Given the description of an element on the screen output the (x, y) to click on. 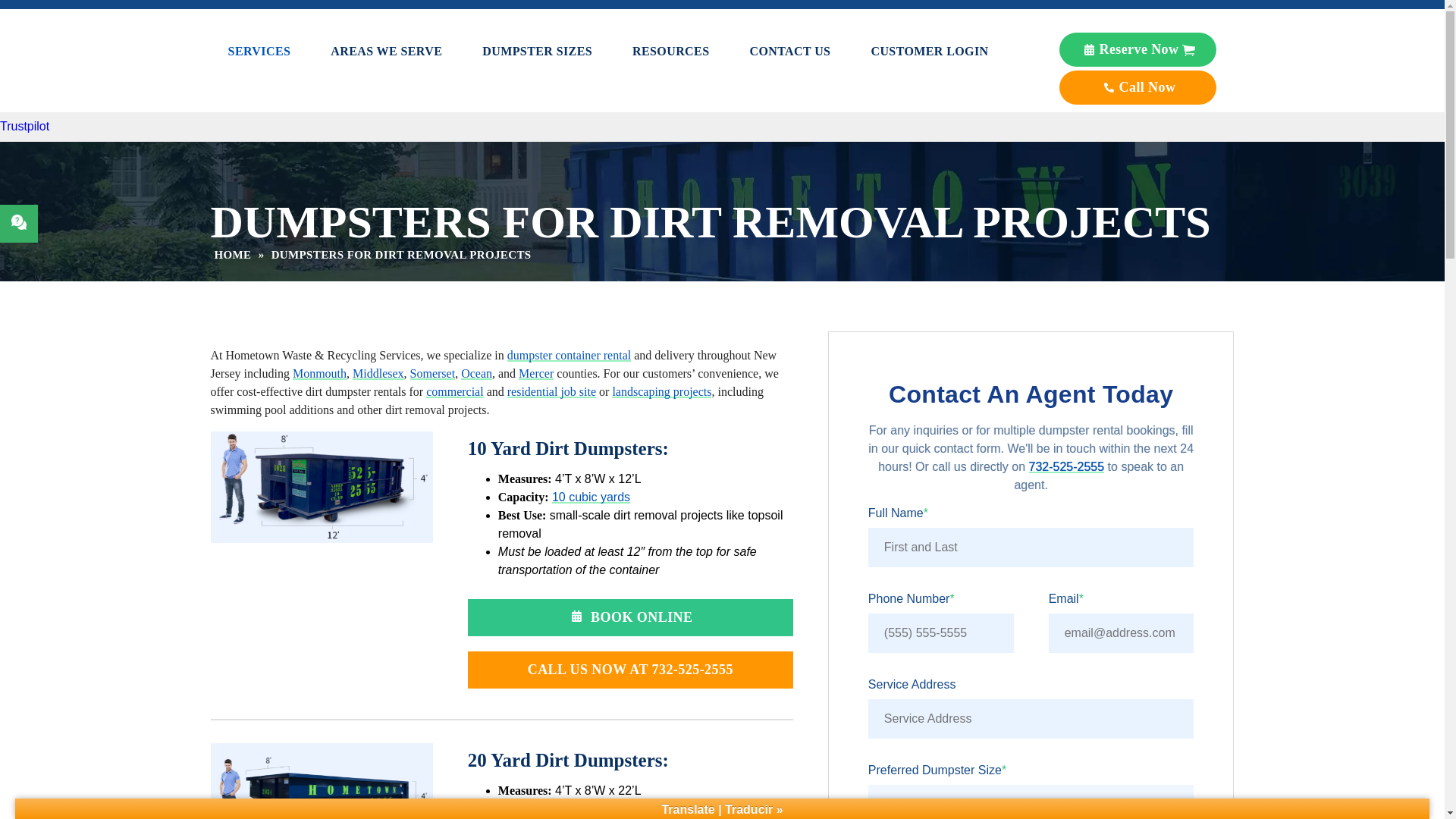
AREAS WE SERVE (386, 49)
RESOURCES (670, 49)
DUMPSTER SIZES (536, 49)
